Given the description of an element on the screen output the (x, y) to click on. 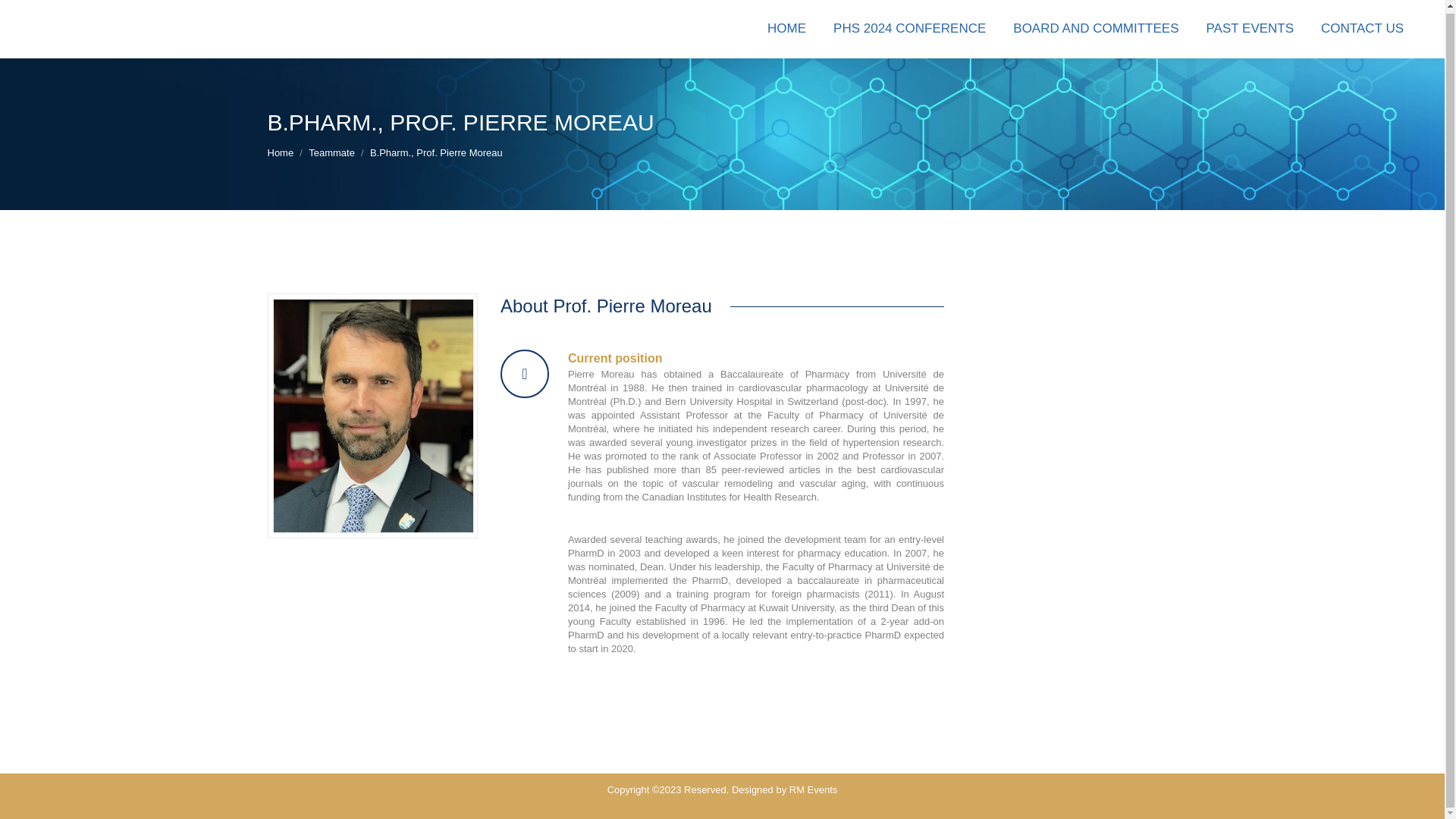
HOME (786, 28)
PAST EVENTS (1249, 28)
PHS 2024 CONFERENCE (908, 28)
CONTACT US (1361, 28)
BOARD AND COMMITTEES (1095, 28)
